Given the description of an element on the screen output the (x, y) to click on. 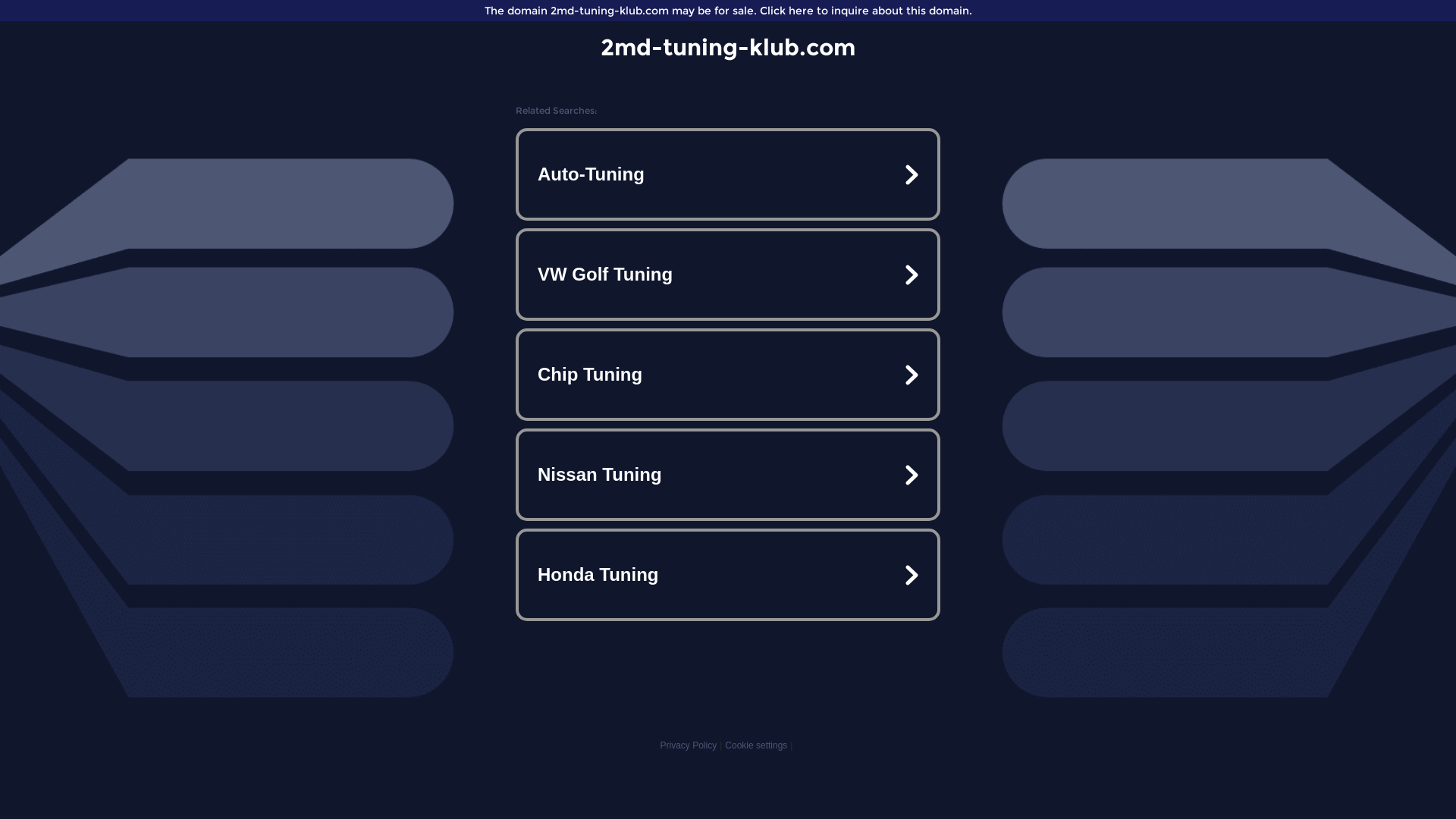
Nissan Tuning Element type: text (727, 474)
Cookie settings Element type: text (755, 745)
Chip Tuning Element type: text (727, 374)
VW Golf Tuning Element type: text (727, 274)
Honda Tuning Element type: text (727, 574)
Privacy Policy Element type: text (687, 745)
2md-tuning-klub.com Element type: text (727, 47)
Auto-Tuning Element type: text (727, 174)
